Given the description of an element on the screen output the (x, y) to click on. 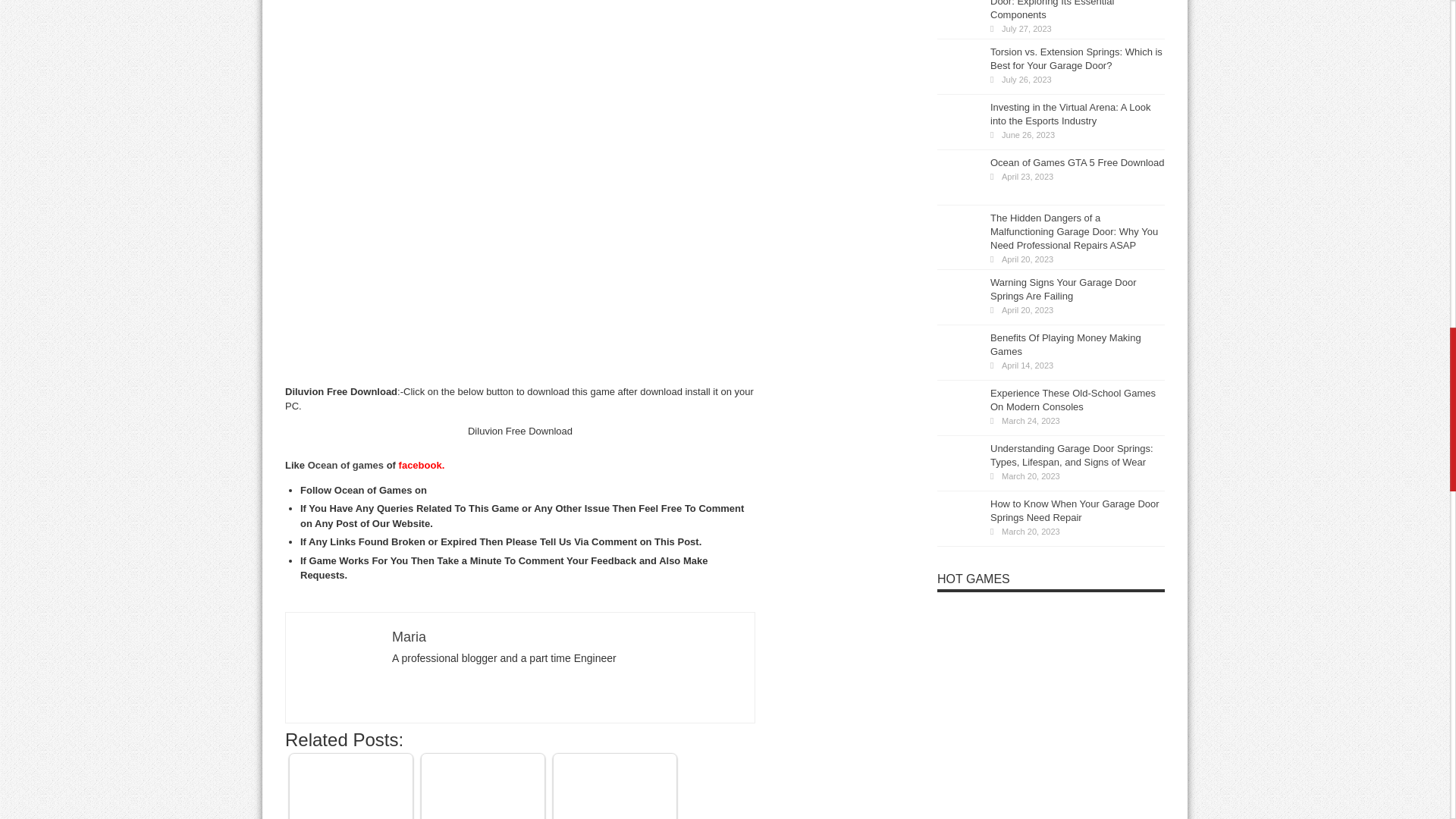
Ocean of Games GTA 5 Free Download (350, 788)
facebook. (421, 464)
Diluvion Free Download (339, 665)
Ocean of Games GTA (483, 788)
Maria (408, 636)
Ocean of games (345, 464)
Ocean of Games GTA 5 Free Download (350, 788)
Ocean of Games GTA (483, 788)
Kingdom Come: Deliverance free download (614, 786)
